Given the description of an element on the screen output the (x, y) to click on. 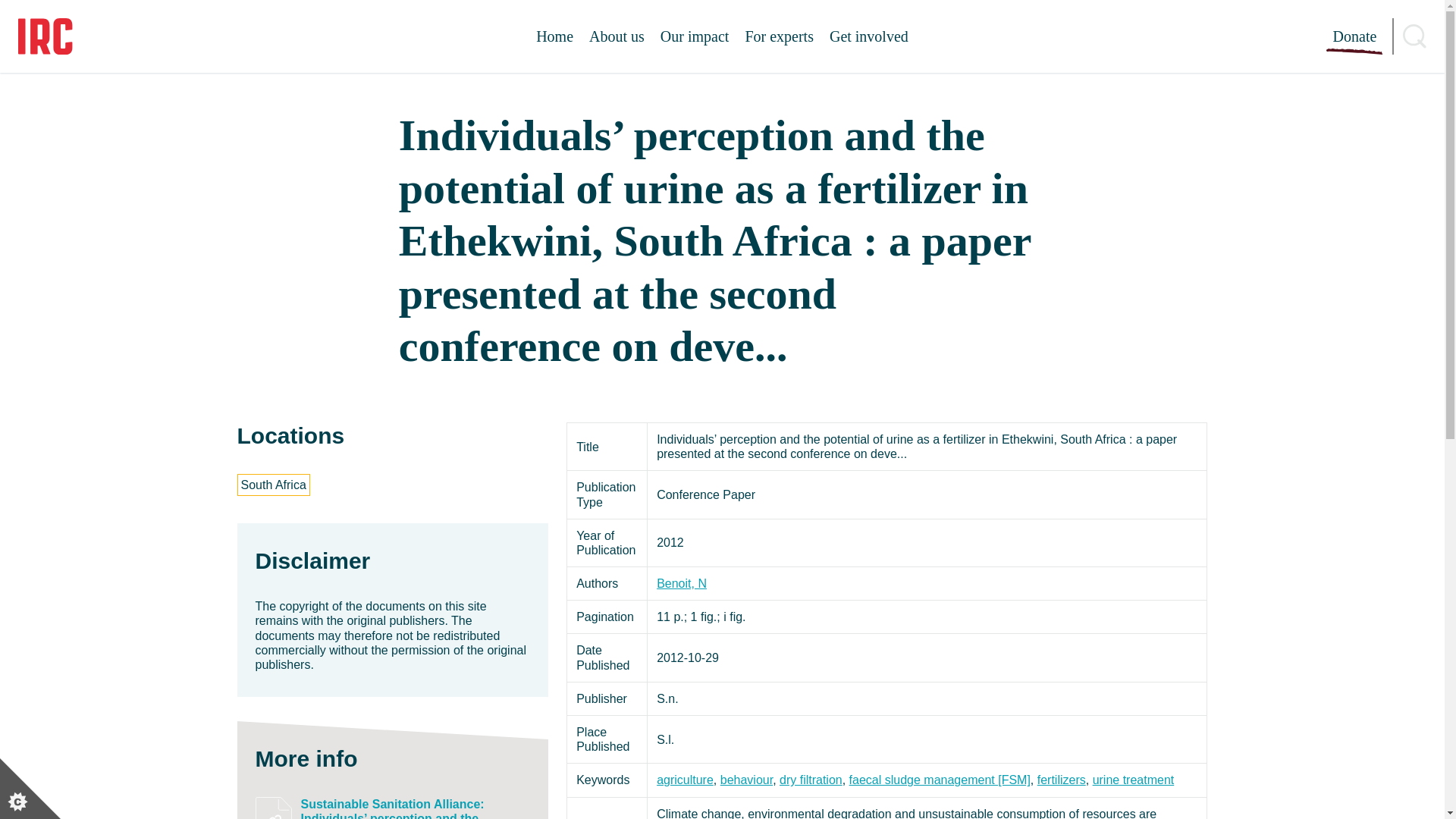
South Africa (273, 484)
agriculture (684, 779)
Benoit, N (681, 583)
About us (617, 36)
behaviour (746, 779)
fertilizers (1061, 779)
dry filtration (810, 779)
Home (554, 36)
Get involved (868, 36)
urine treatment (1133, 779)
